Given the description of an element on the screen output the (x, y) to click on. 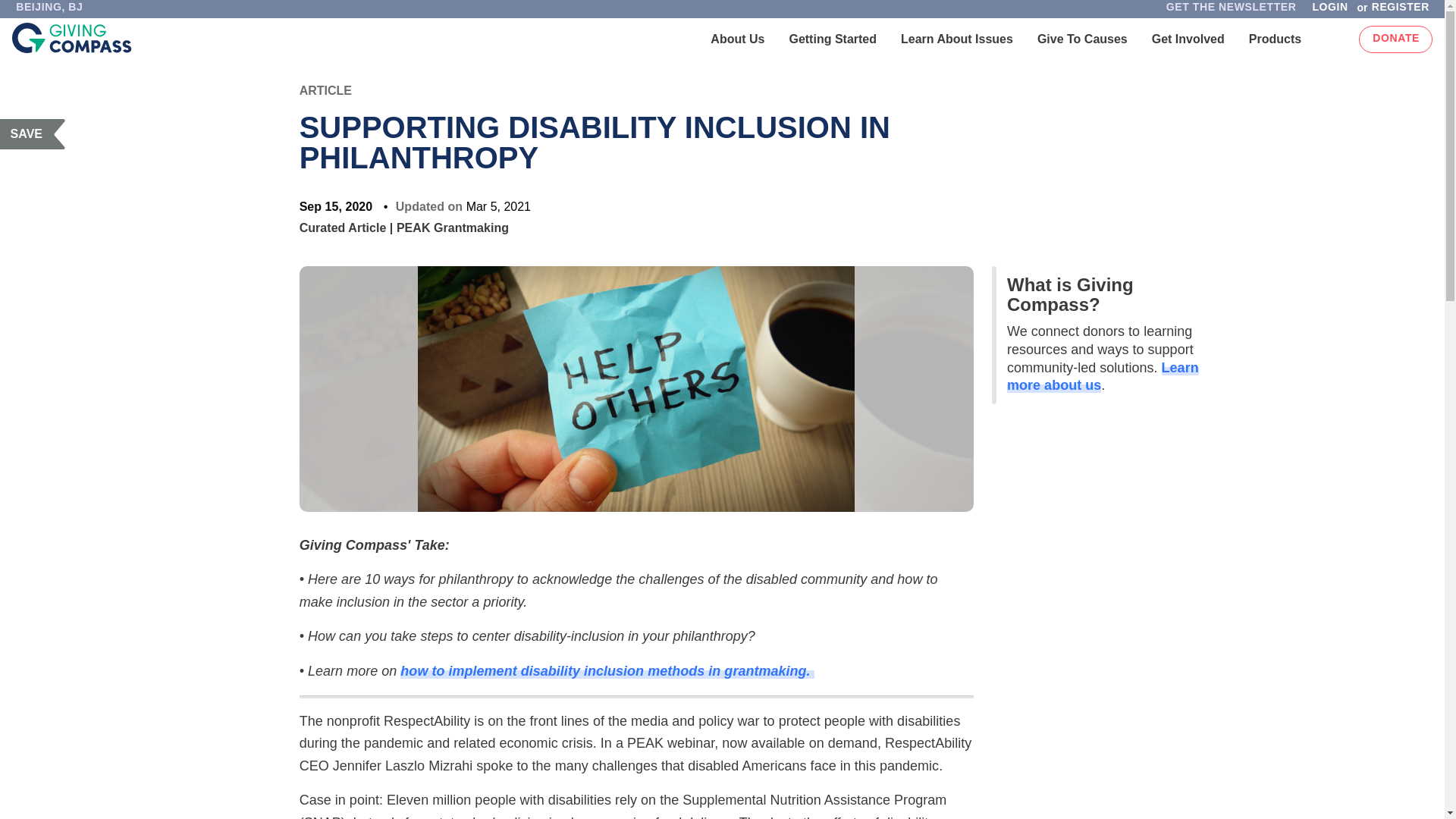
GET THE NEWSLETTER (1231, 10)
SAVE (33, 134)
REGISTER (1404, 10)
BEIJING, BJ (48, 10)
DONATE (1395, 39)
LOGIN (1329, 10)
Learn more about us (1102, 376)
